Given the description of an element on the screen output the (x, y) to click on. 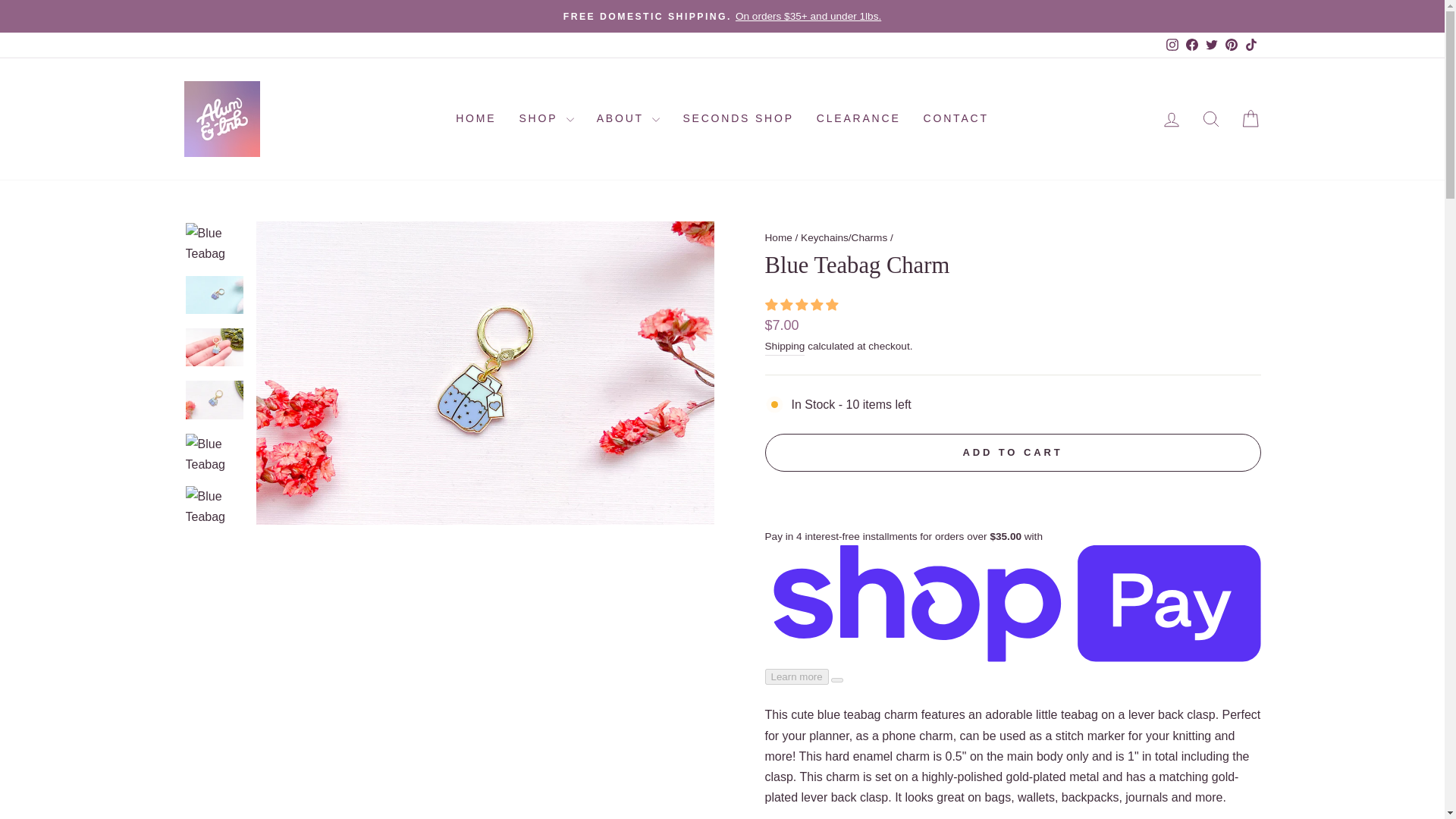
instagram (1171, 44)
twitter (1211, 44)
ACCOUNT (1170, 119)
Back to the frontpage (778, 237)
ICON-SEARCH (1210, 118)
